Given the description of an element on the screen output the (x, y) to click on. 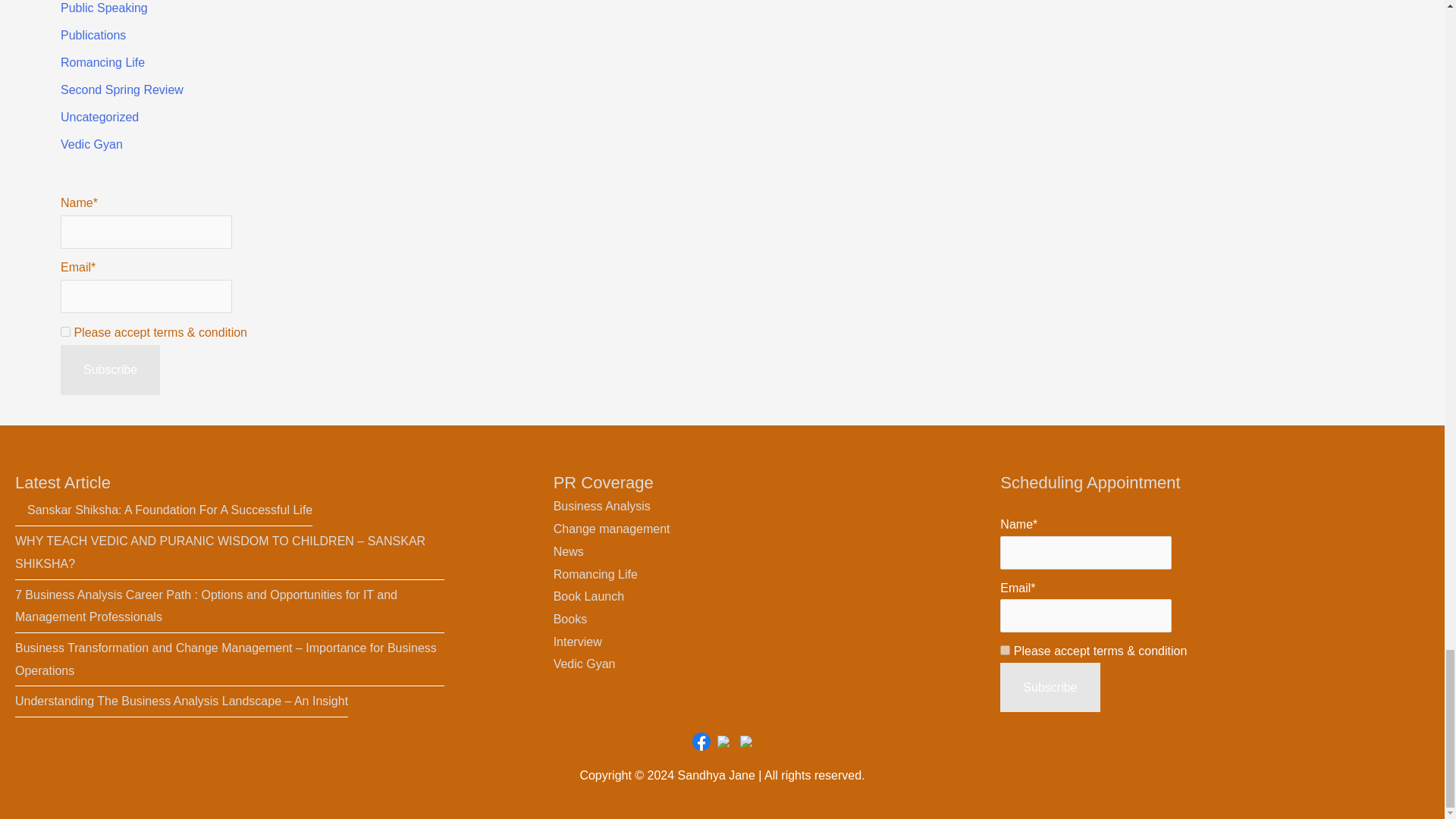
true (65, 331)
Subscribe (1049, 687)
true (1005, 650)
Subscribe (110, 369)
